Given the description of an element on the screen output the (x, y) to click on. 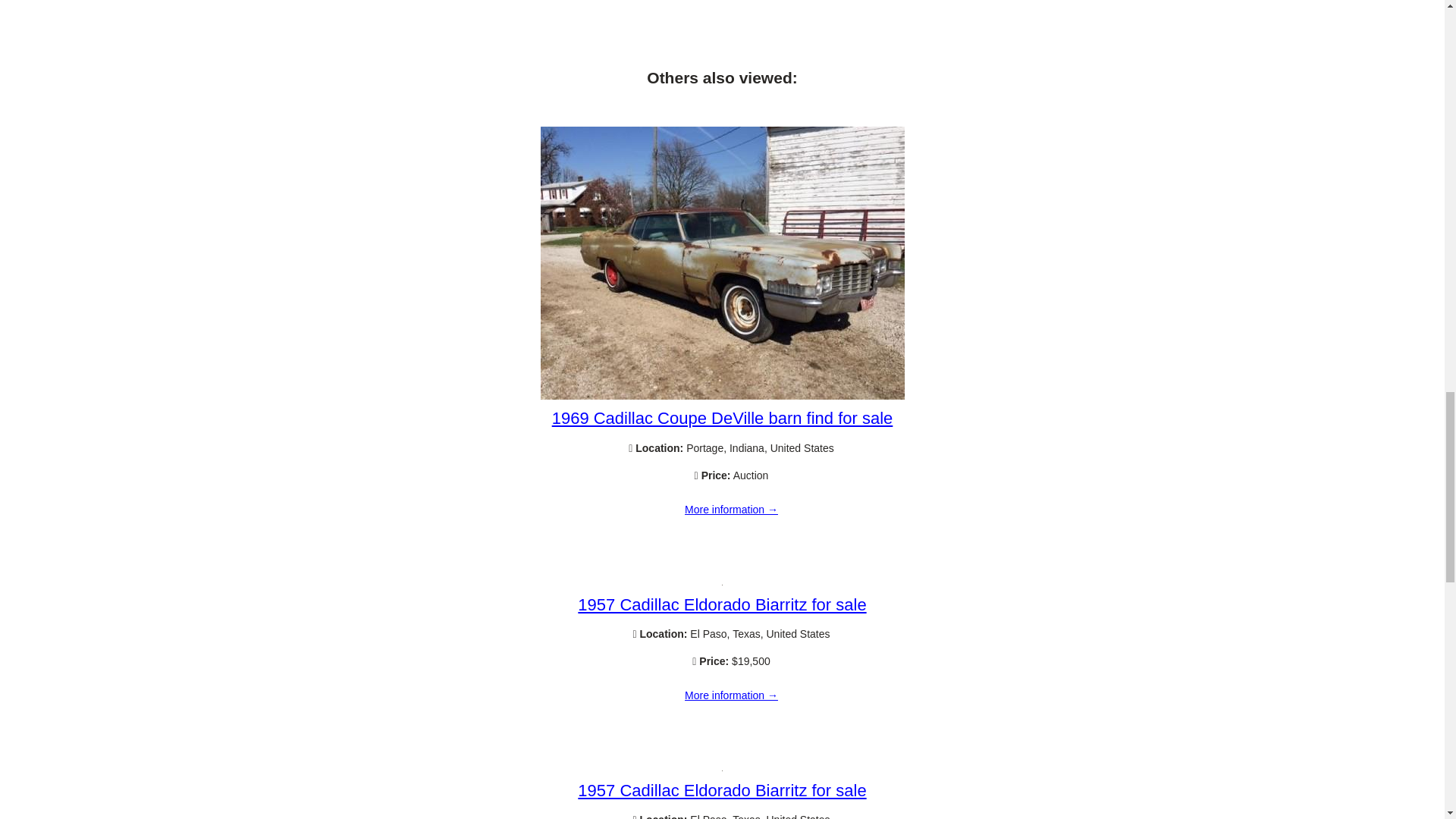
1969 Cadillac Coupe DeVille barn find for sale (731, 510)
1957 Cadillac Eldorado Biarritz for sale (722, 604)
1969 Cadillac Coupe DeVille barn find for sale (722, 395)
1969 Cadillac Coupe DeVille barn find for sale (722, 417)
1957 Cadillac Eldorado Biarritz for sale (722, 790)
1957 Cadillac Eldorado Biarritz for sale (731, 695)
